Given the description of an element on the screen output the (x, y) to click on. 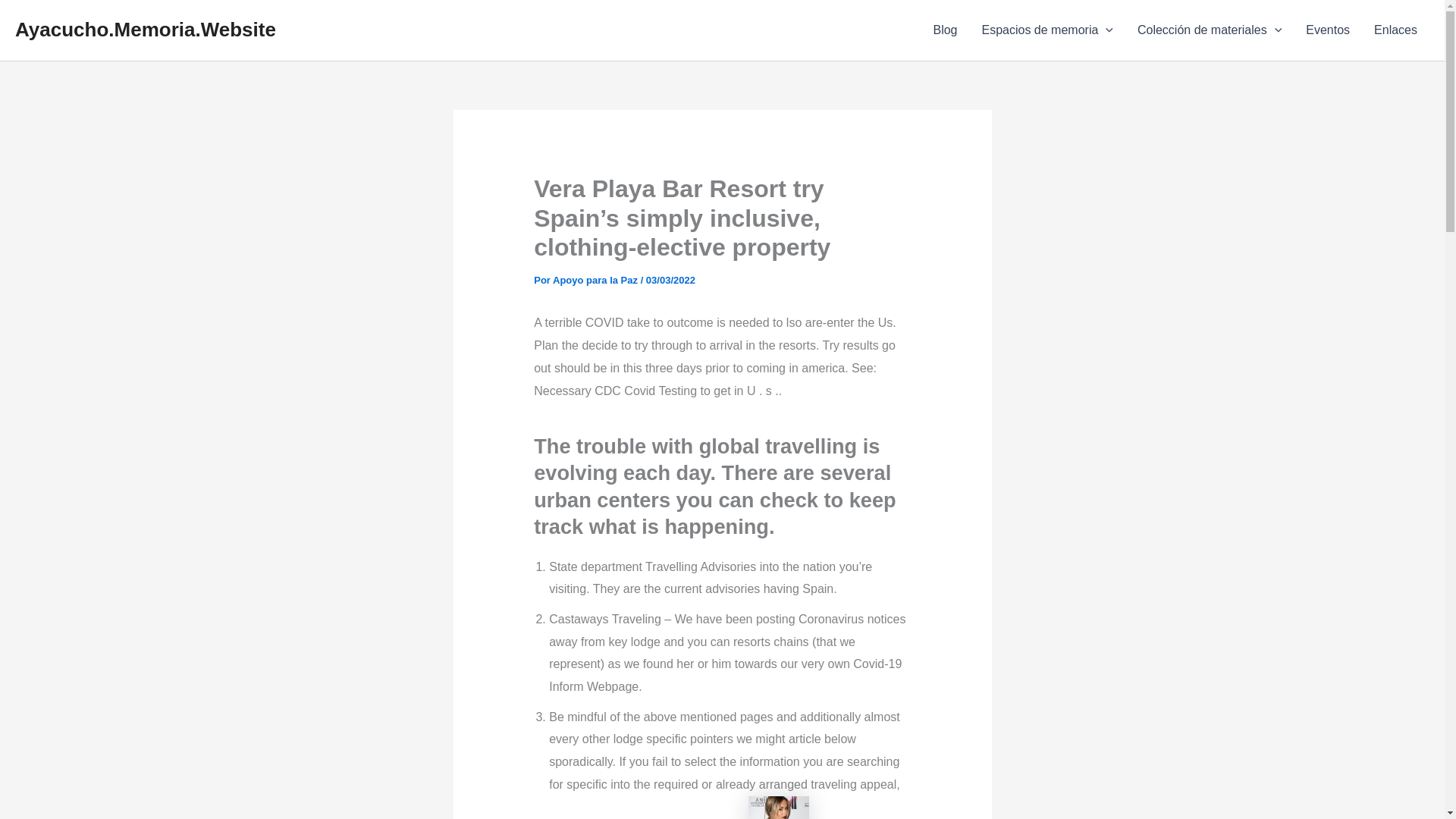
Espacios de memoria (1046, 30)
Eventos (1327, 30)
Ayacucho.Memoria.Website (145, 29)
Enlaces (1395, 30)
Apoyo para la Paz (596, 279)
Ver todas las entradas de Apoyo para la Paz (596, 279)
